Given the description of an element on the screen output the (x, y) to click on. 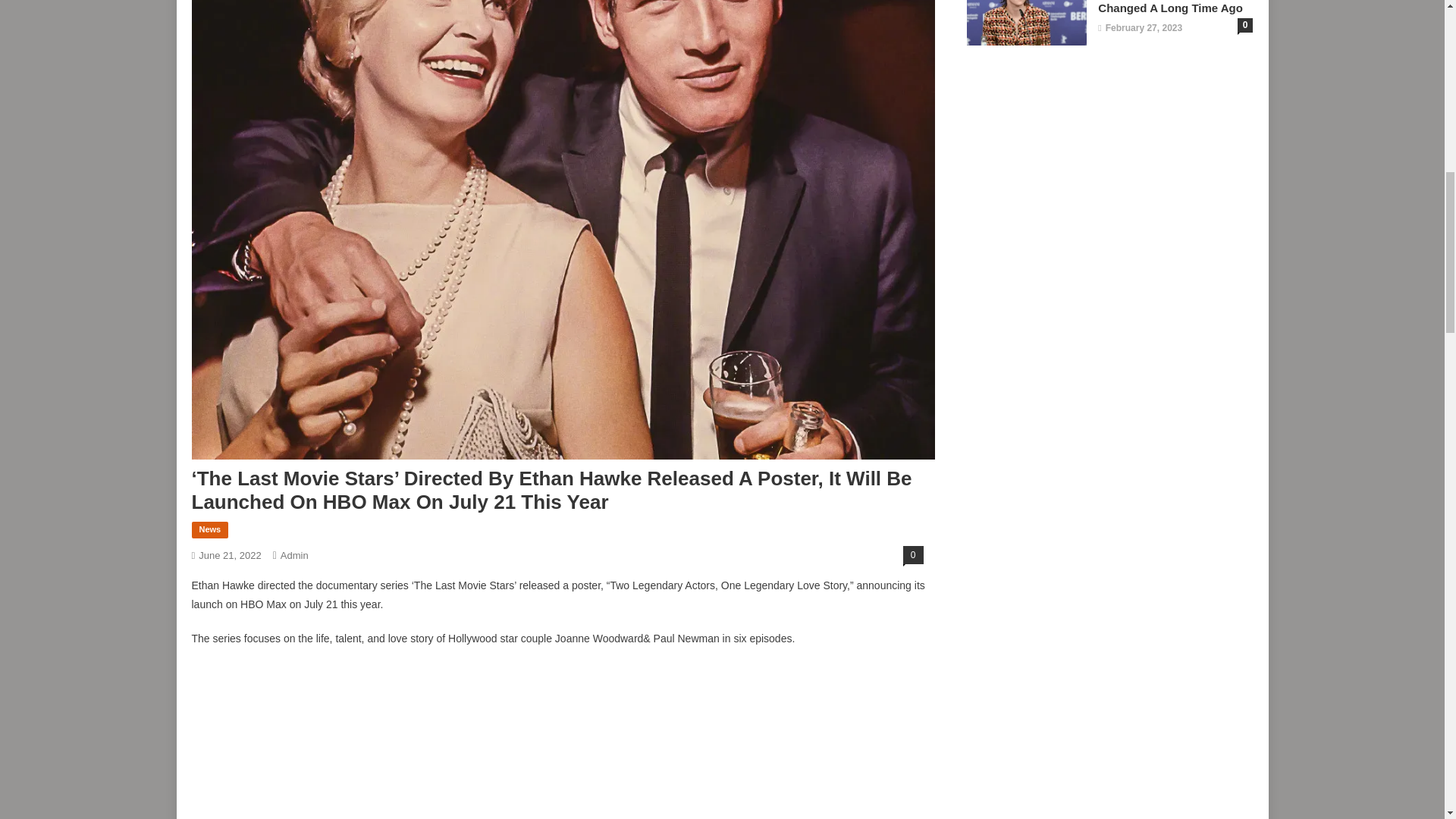
Admin (294, 555)
June 21, 2022 (229, 555)
0 (912, 555)
News (209, 529)
